Given the description of an element on the screen output the (x, y) to click on. 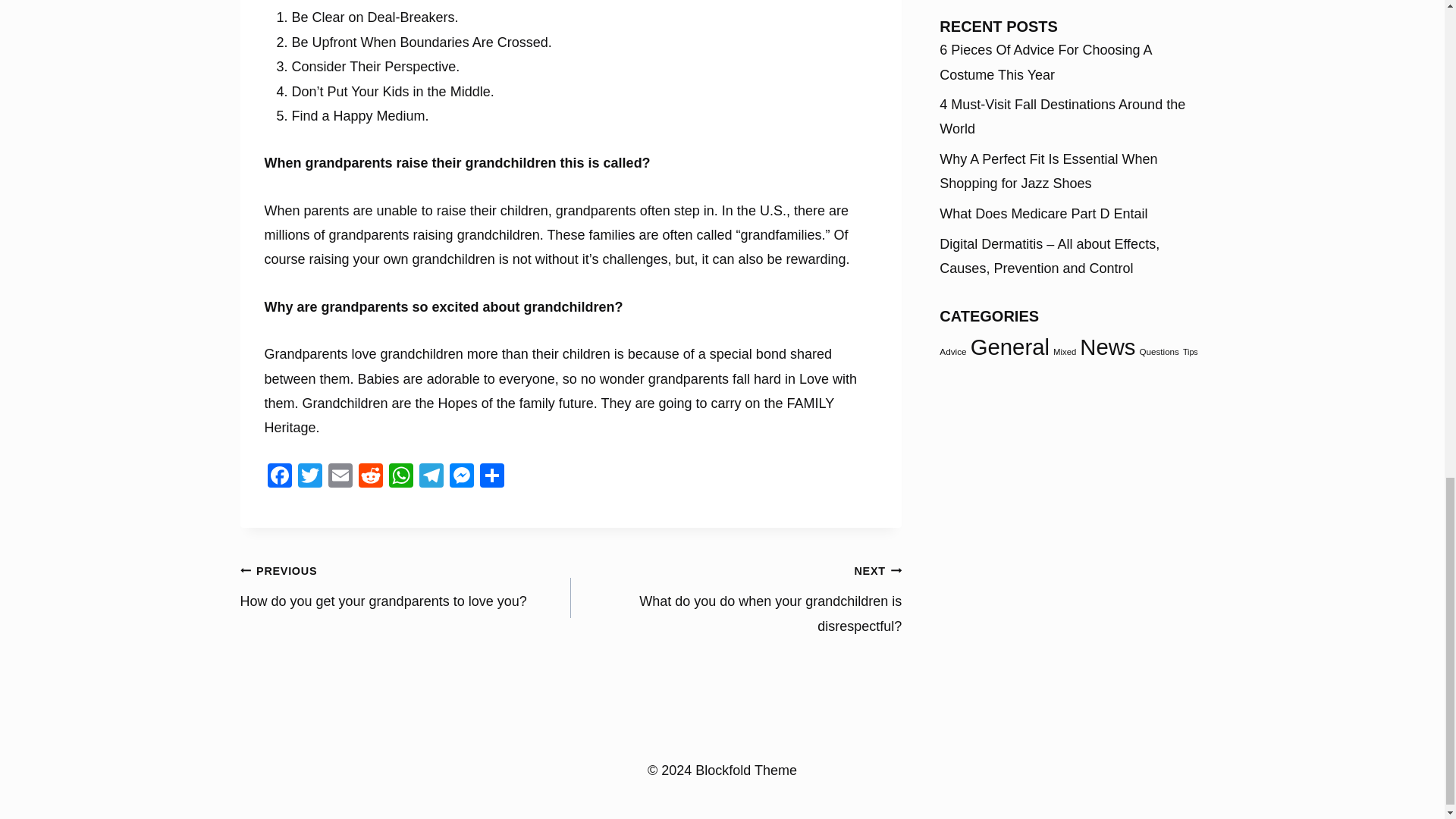
Messenger (460, 477)
Twitter (309, 477)
Reddit (370, 477)
Reddit (370, 477)
Facebook (278, 477)
Email (339, 477)
Twitter (309, 477)
Email (339, 477)
Telegram (429, 477)
WhatsApp (399, 477)
